Given the description of an element on the screen output the (x, y) to click on. 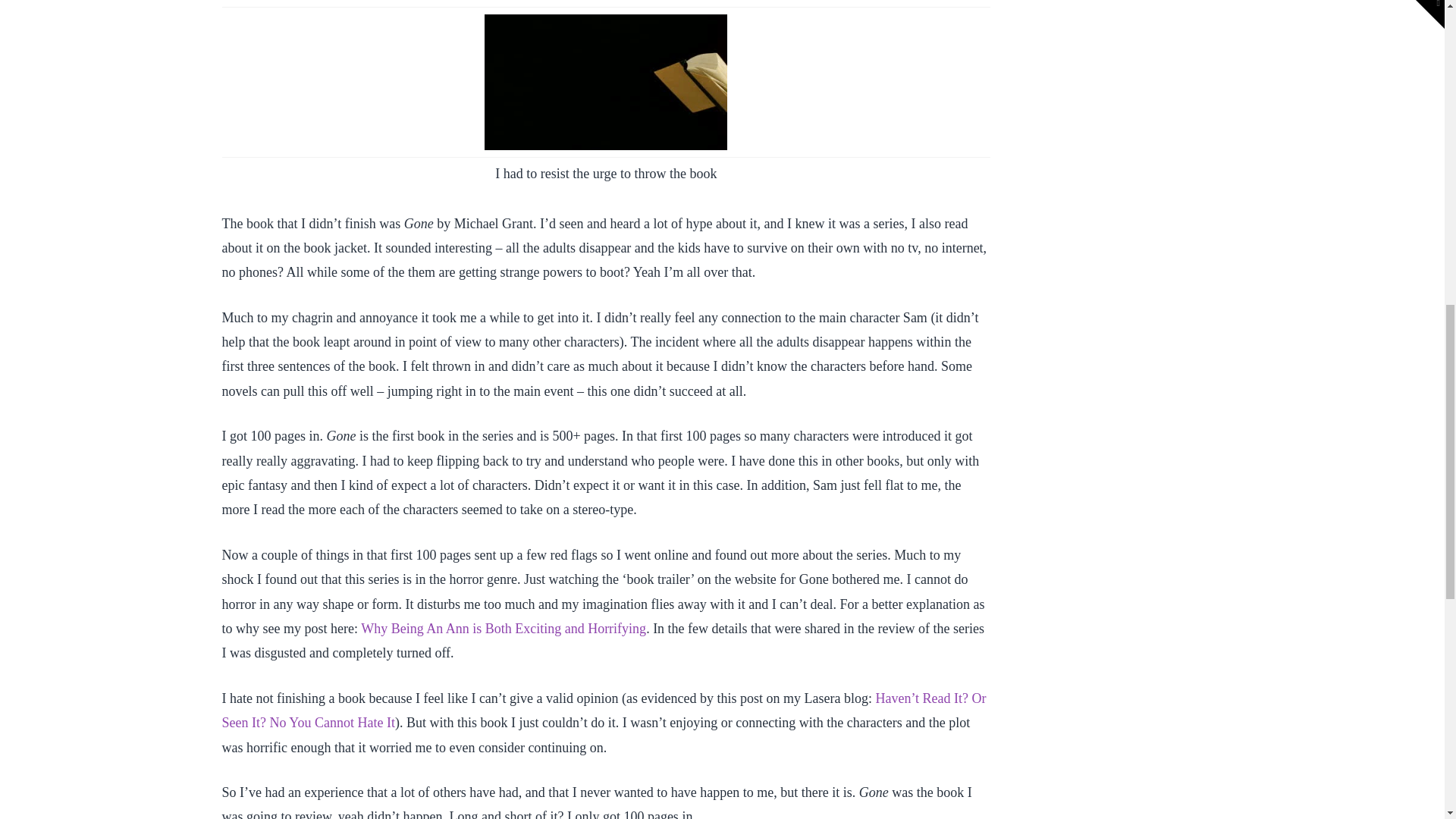
Why Being An Ann is Both Exciting and Horrifying (503, 628)
